Given the description of an element on the screen output the (x, y) to click on. 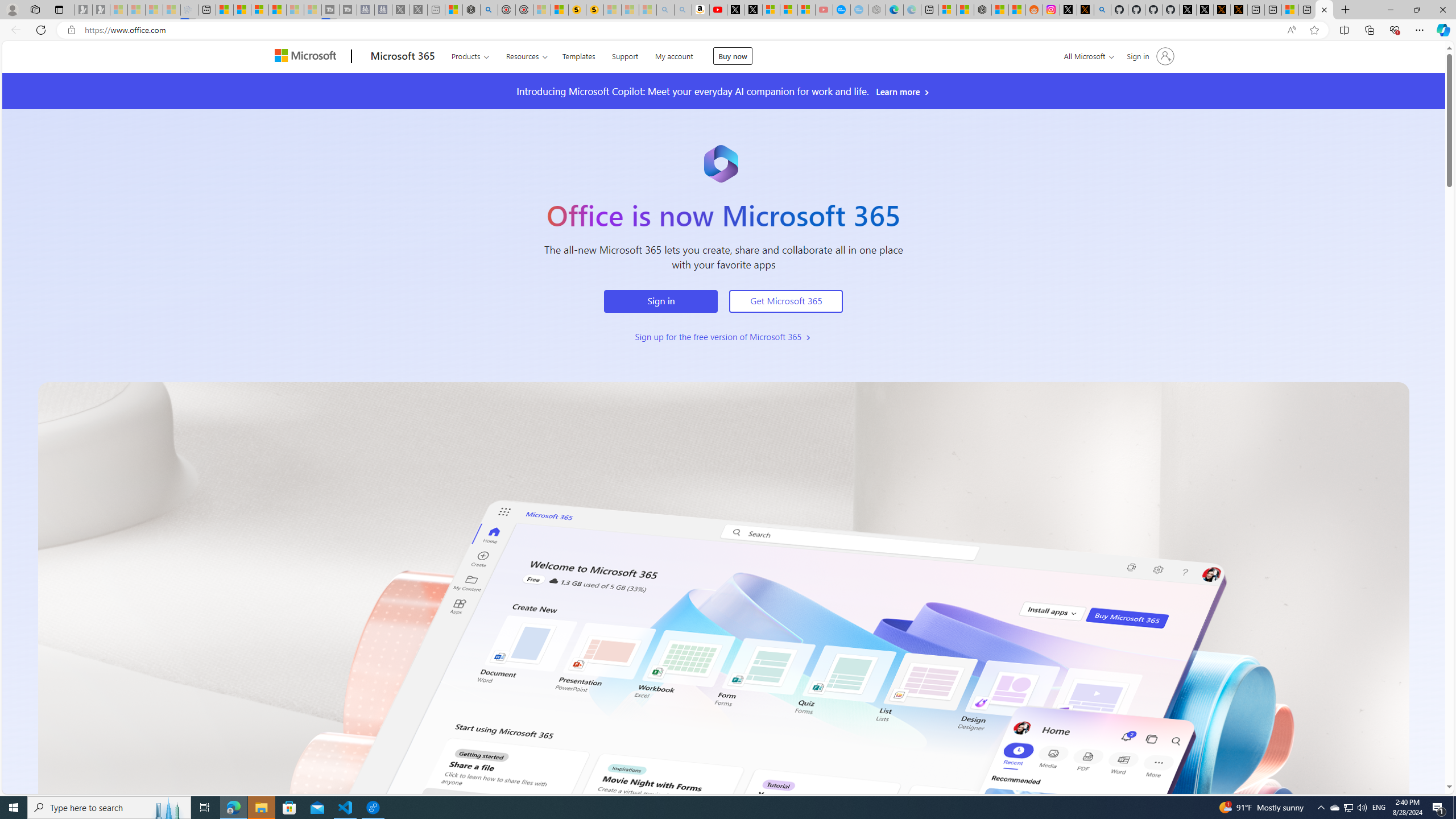
Buy now (732, 55)
Overview (259, 9)
Templates (577, 54)
help.x.com | 524: A timeout occurred (1085, 9)
My account (673, 54)
Support (625, 54)
Nordace - Nordace has arrived Hong Kong - Sleeping (877, 9)
Support (625, 54)
X (753, 9)
